Given the description of an element on the screen output the (x, y) to click on. 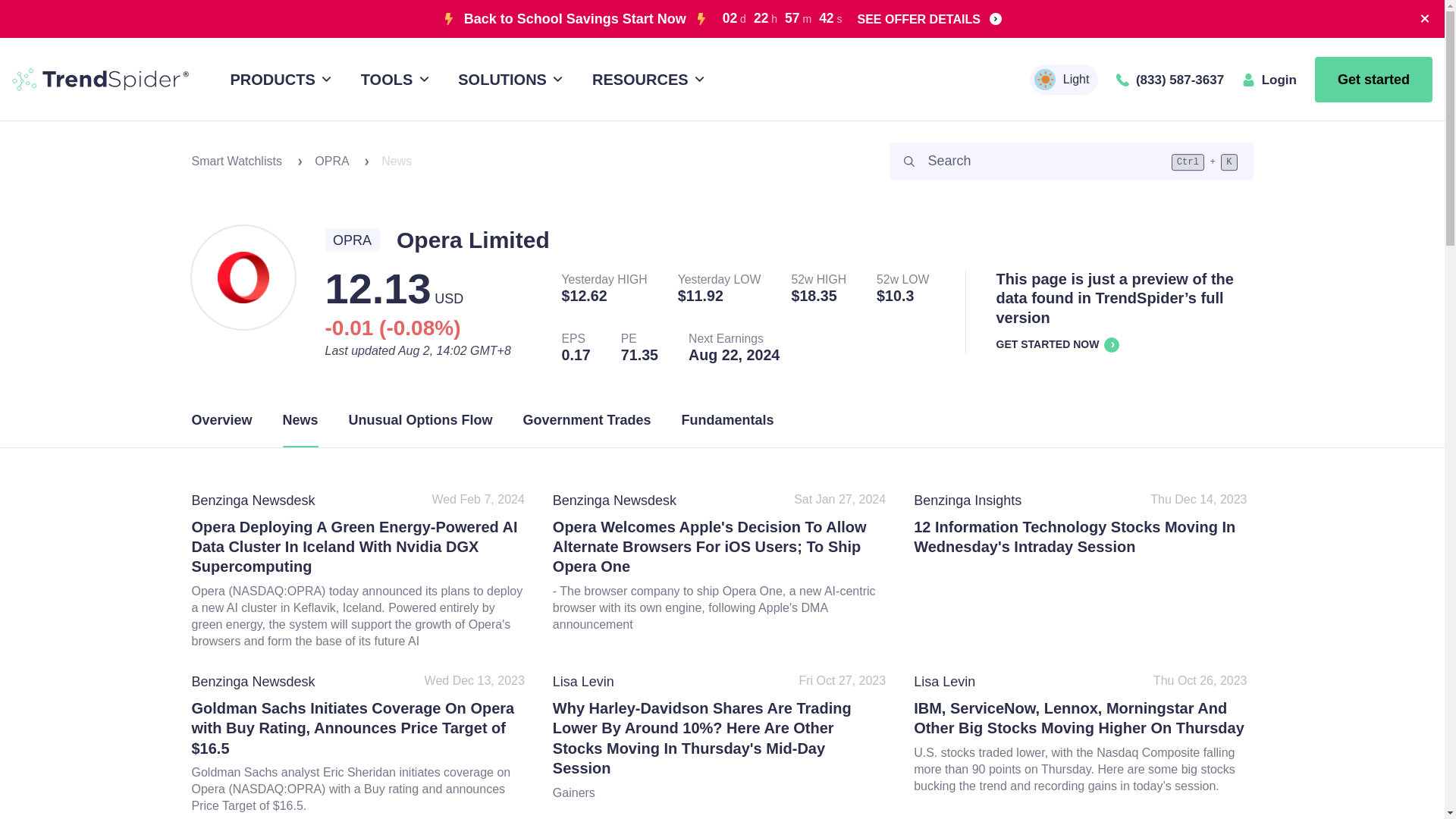
SEE OFFER DETAILS (929, 18)
TrendSpider (100, 78)
RESOURCES (645, 79)
on (1039, 73)
Get started (1373, 79)
PRODUCTS (277, 79)
SOLUTIONS (508, 79)
Back to School Savings Start Now (574, 18)
TOOLS (392, 79)
